Given the description of an element on the screen output the (x, y) to click on. 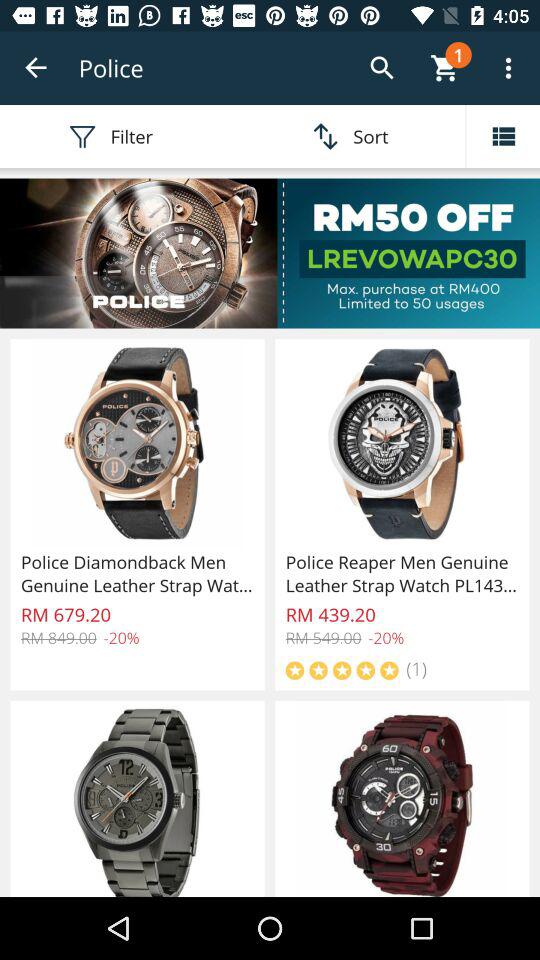
change listing type (503, 136)
